Given the description of an element on the screen output the (x, y) to click on. 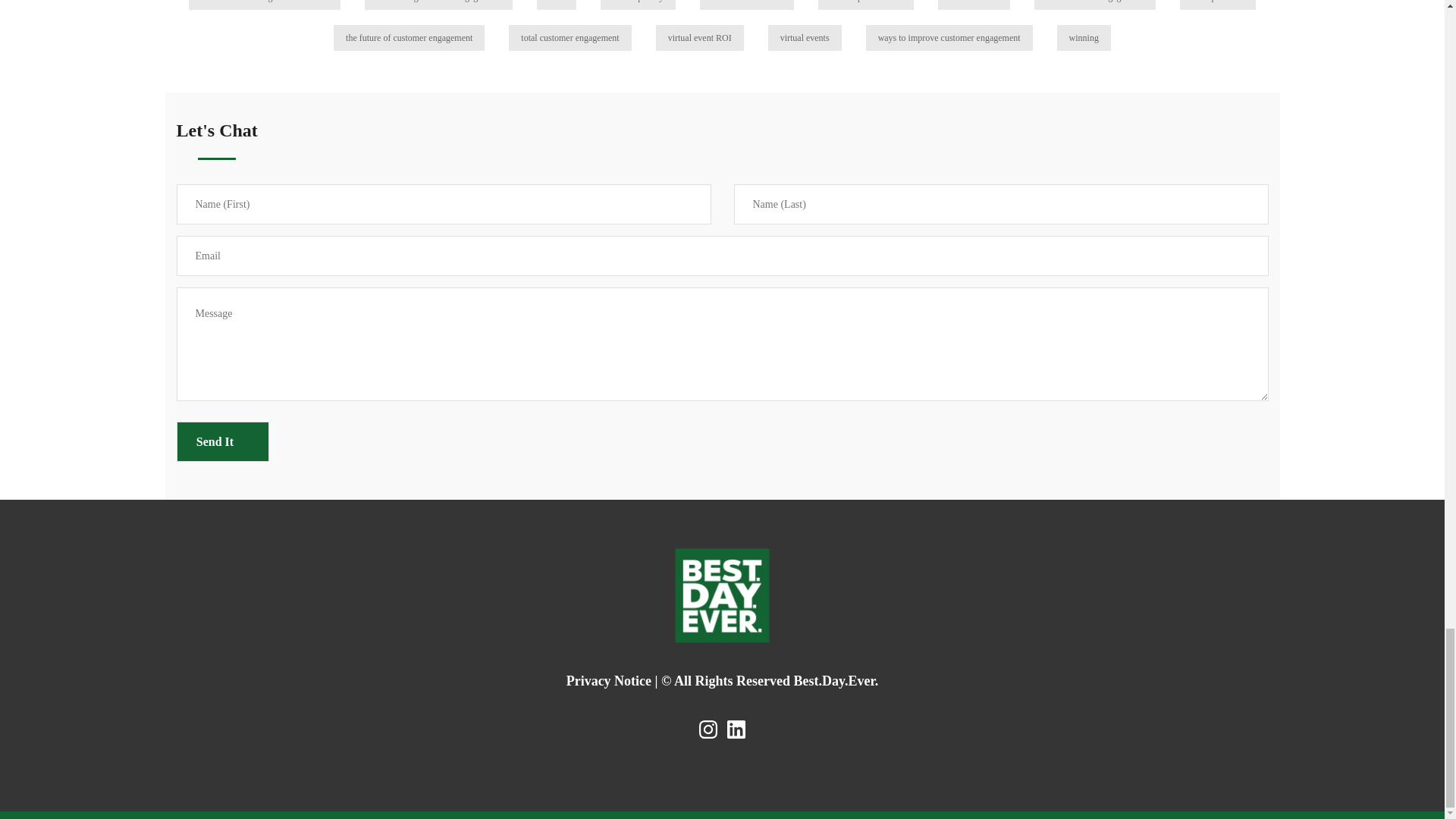
Send It (221, 441)
